Given the description of an element on the screen output the (x, y) to click on. 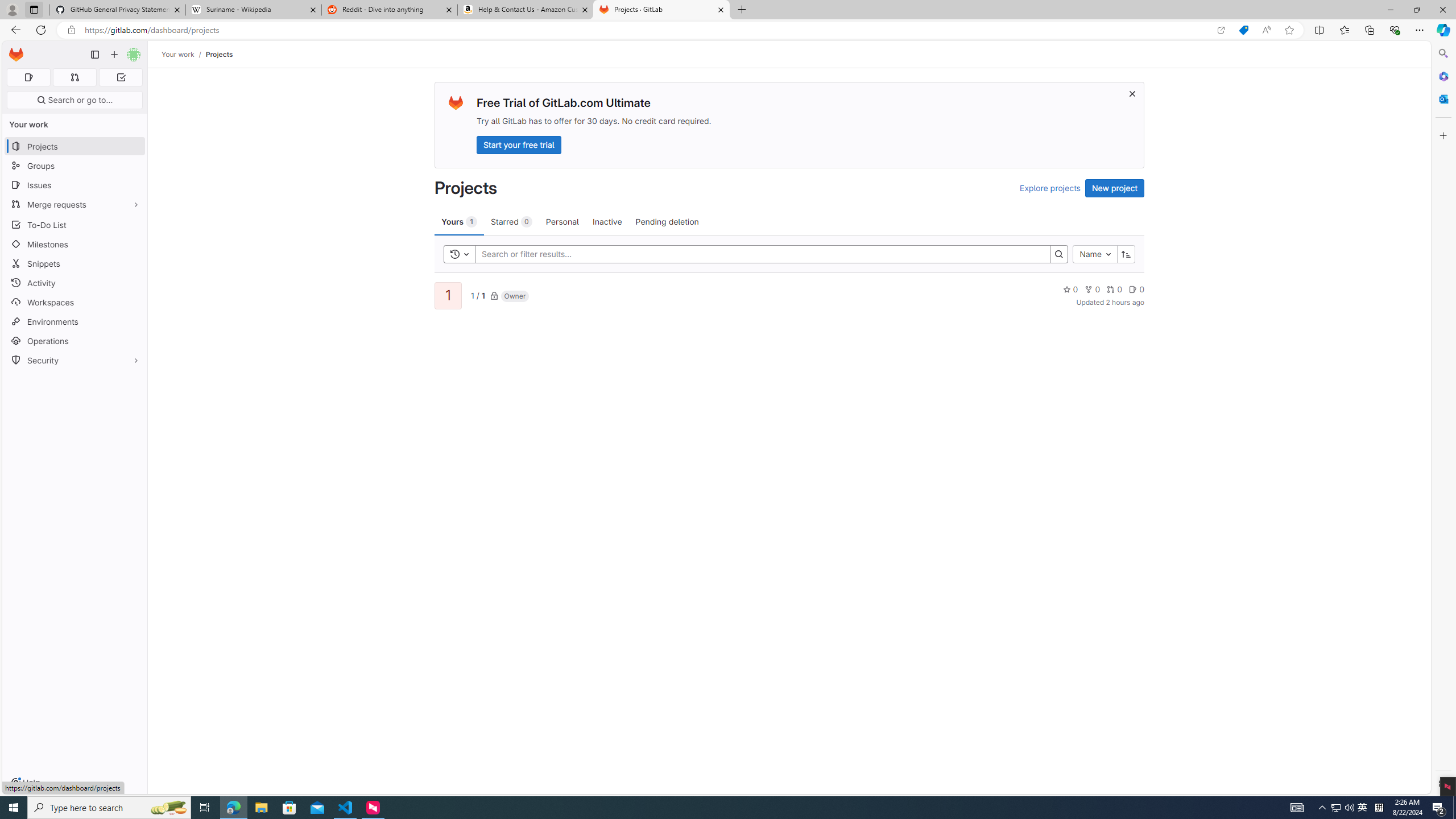
Your work (178, 53)
Merge requests (74, 203)
Start your free trial (519, 144)
Environments (74, 321)
Environments (74, 321)
Yours 1 (458, 221)
Inactive (606, 221)
